Given the description of an element on the screen output the (x, y) to click on. 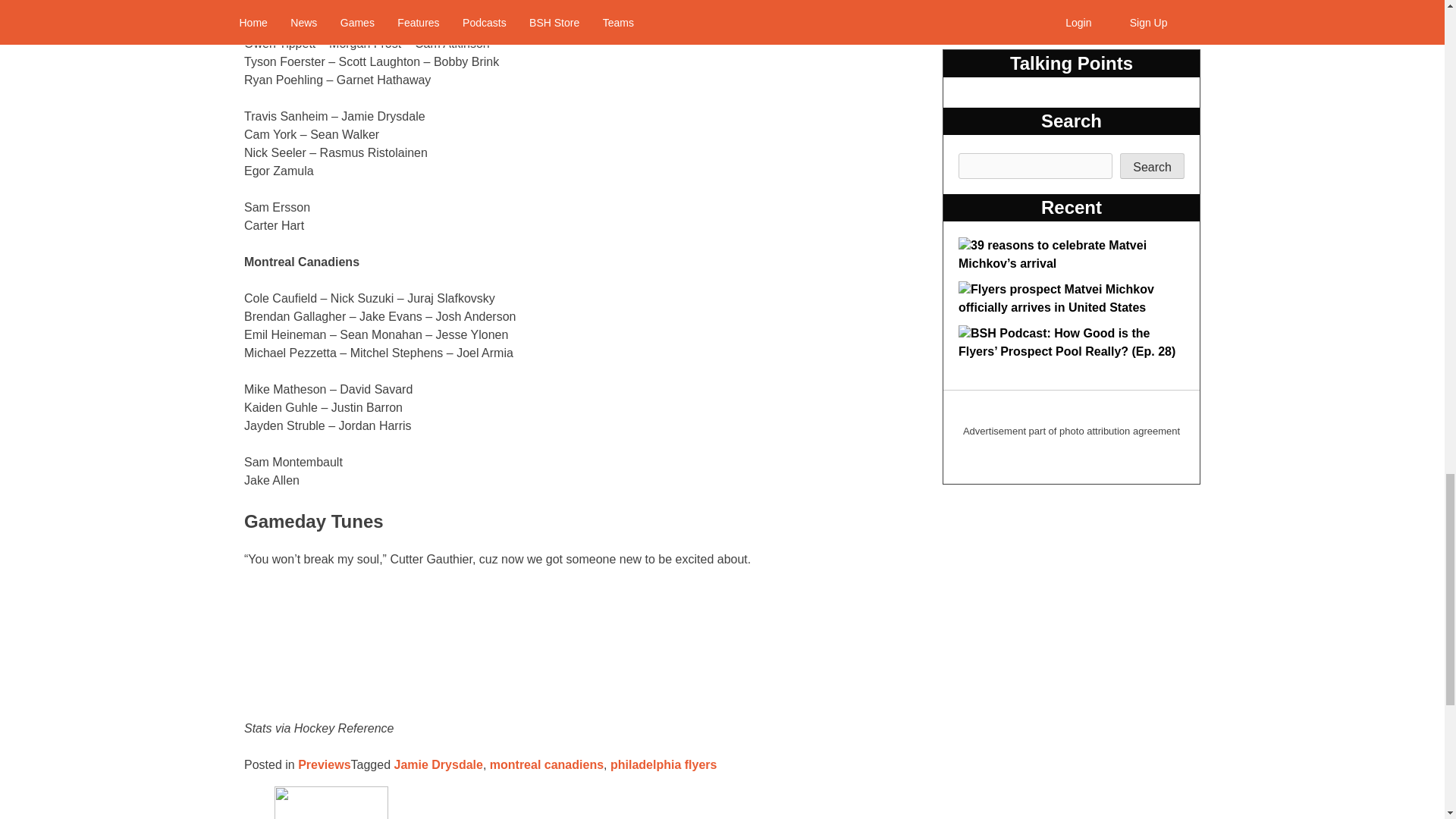
Spotify Embed: BREAK MY SOUL (564, 644)
